Given the description of an element on the screen output the (x, y) to click on. 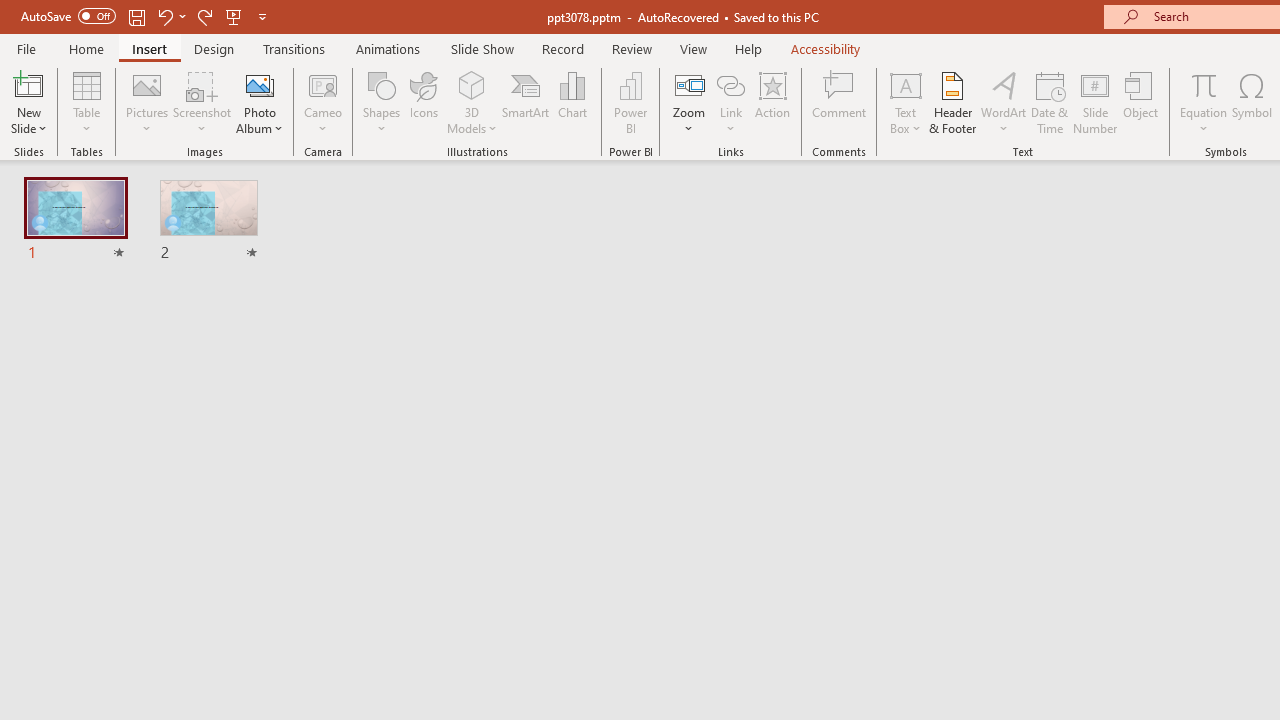
Slide Number (1095, 102)
Power BI (630, 102)
Link (731, 84)
Design (214, 48)
Icons (424, 102)
Shapes (381, 102)
Header & Footer... (952, 102)
Text Box (905, 102)
Photo Album... (259, 102)
Cameo (323, 102)
